Given the description of an element on the screen output the (x, y) to click on. 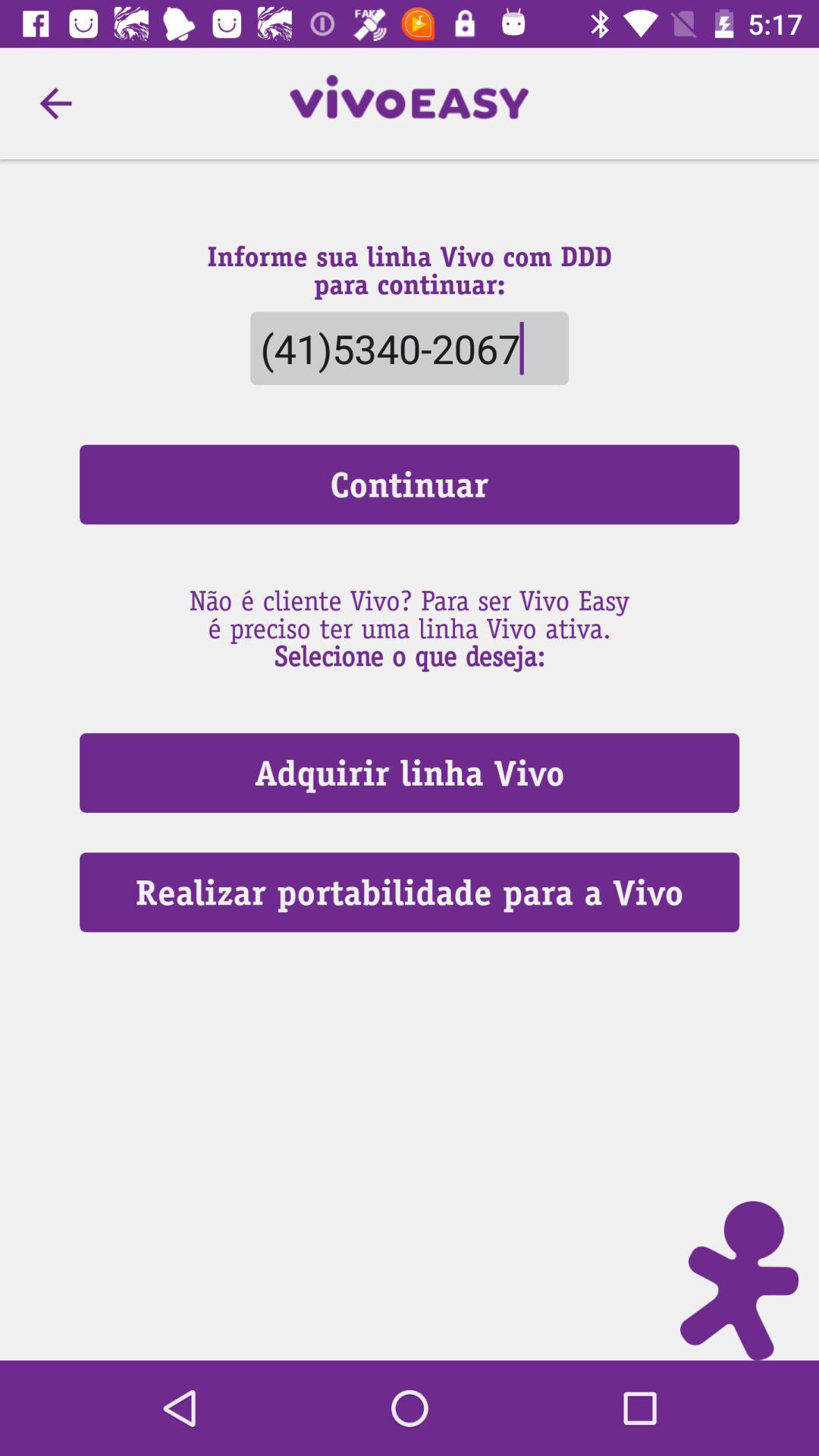
choose the item above the realizar portabilidade para (409, 772)
